Given the description of an element on the screen output the (x, y) to click on. 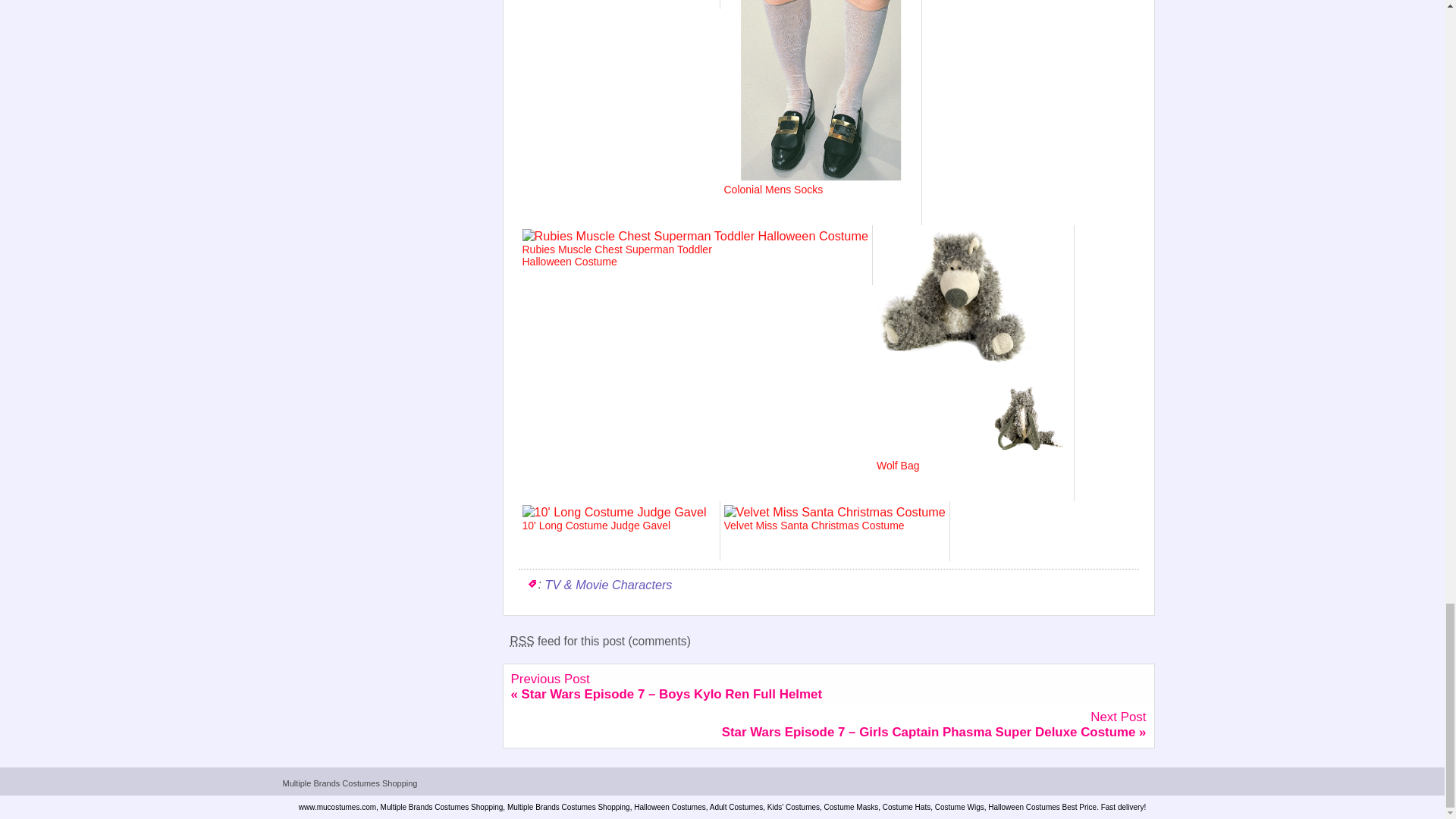
Colonial Mens Socks (820, 202)
10' Long Costume Judge Gavel (617, 538)
Really Simple Syndication (521, 640)
Rubies Muscle Chest Superman Toddler Halloween Costume (617, 262)
Wolf Bag (973, 478)
Roman Emperor Adult Costume (617, 2)
Velvet Miss Santa Christmas Costume (820, 538)
